Given the description of an element on the screen output the (x, y) to click on. 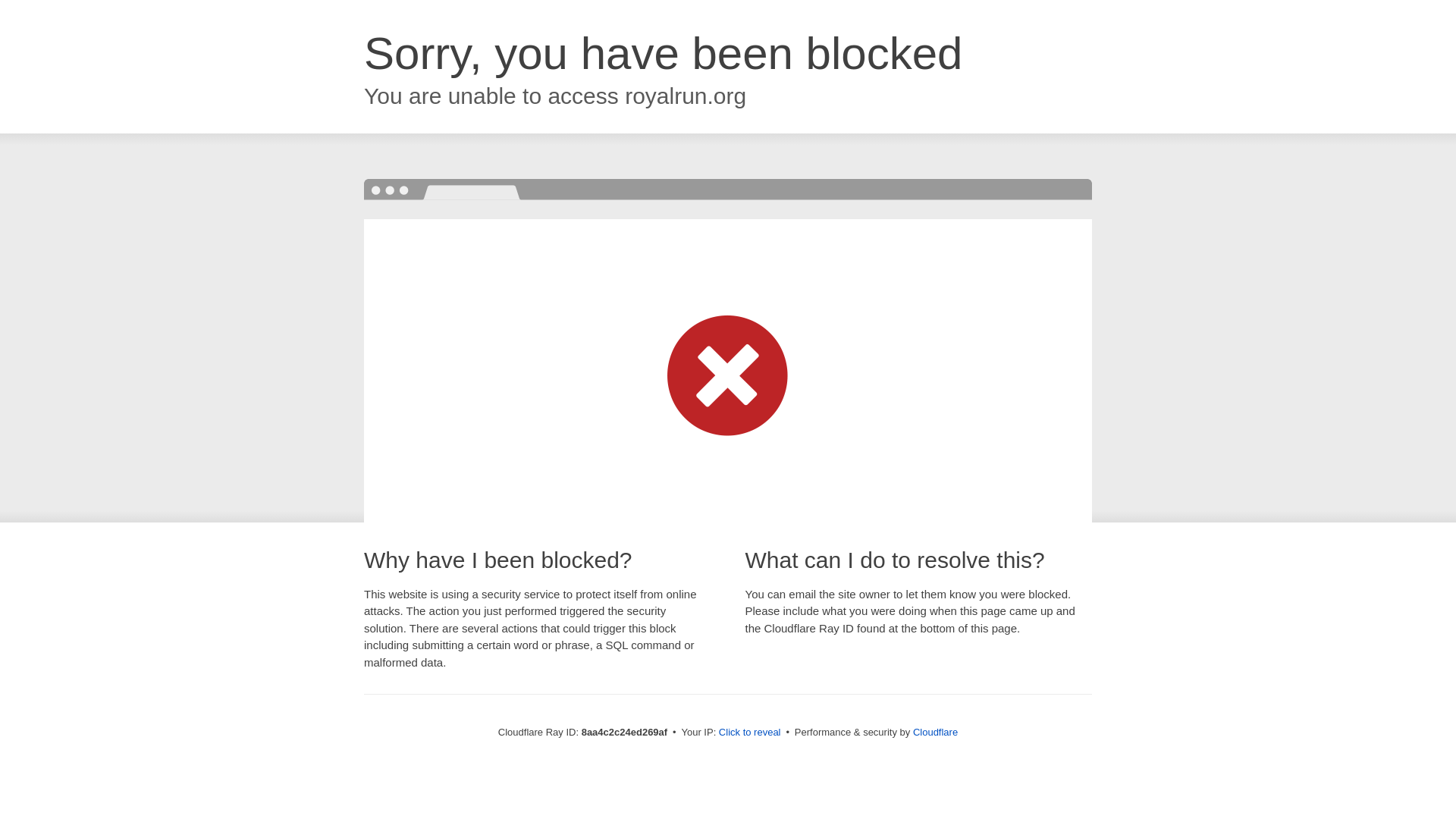
Click to reveal (749, 732)
Cloudflare (935, 731)
